Given the description of an element on the screen output the (x, y) to click on. 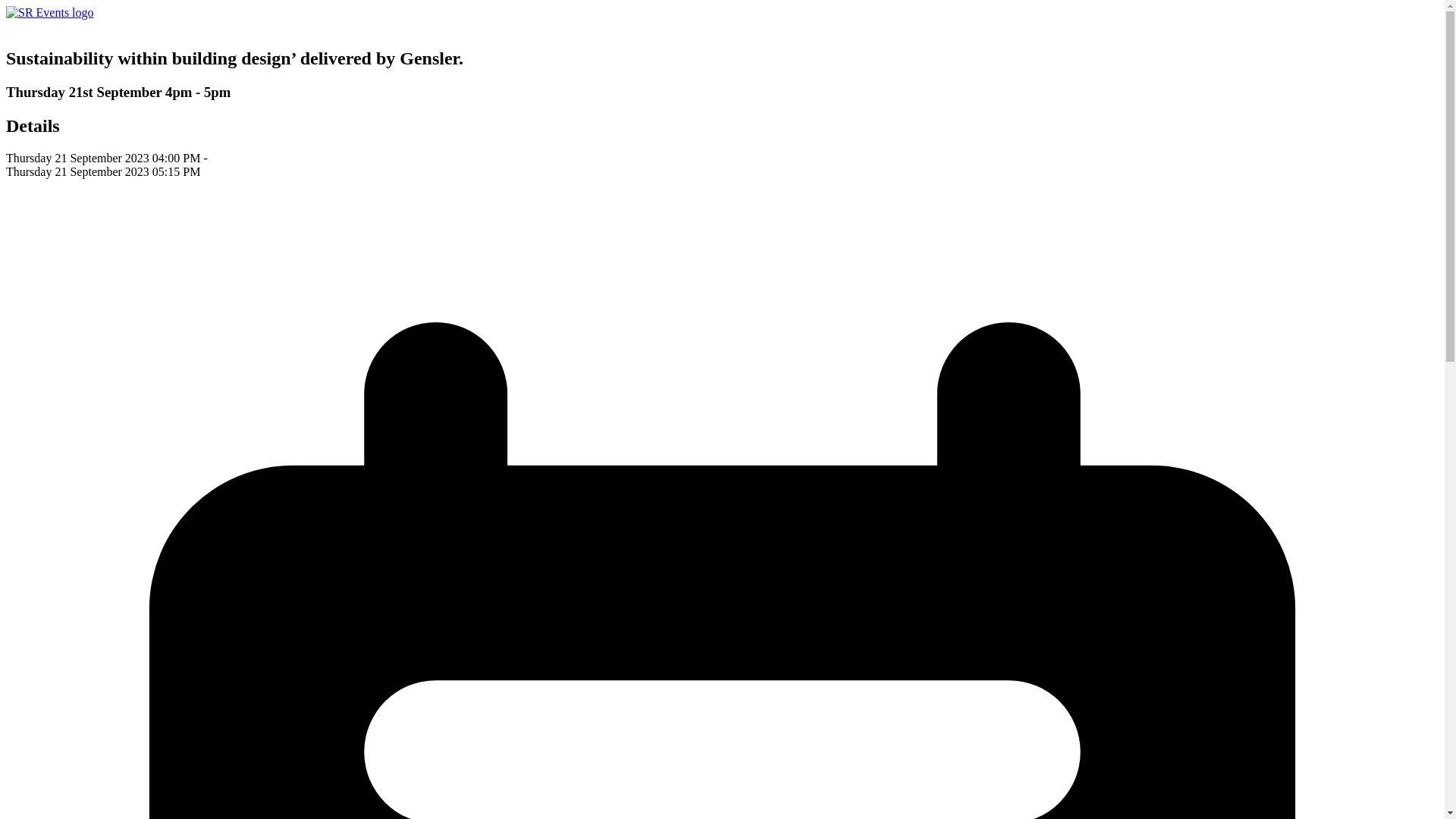
Home (49, 11)
